Given the description of an element on the screen output the (x, y) to click on. 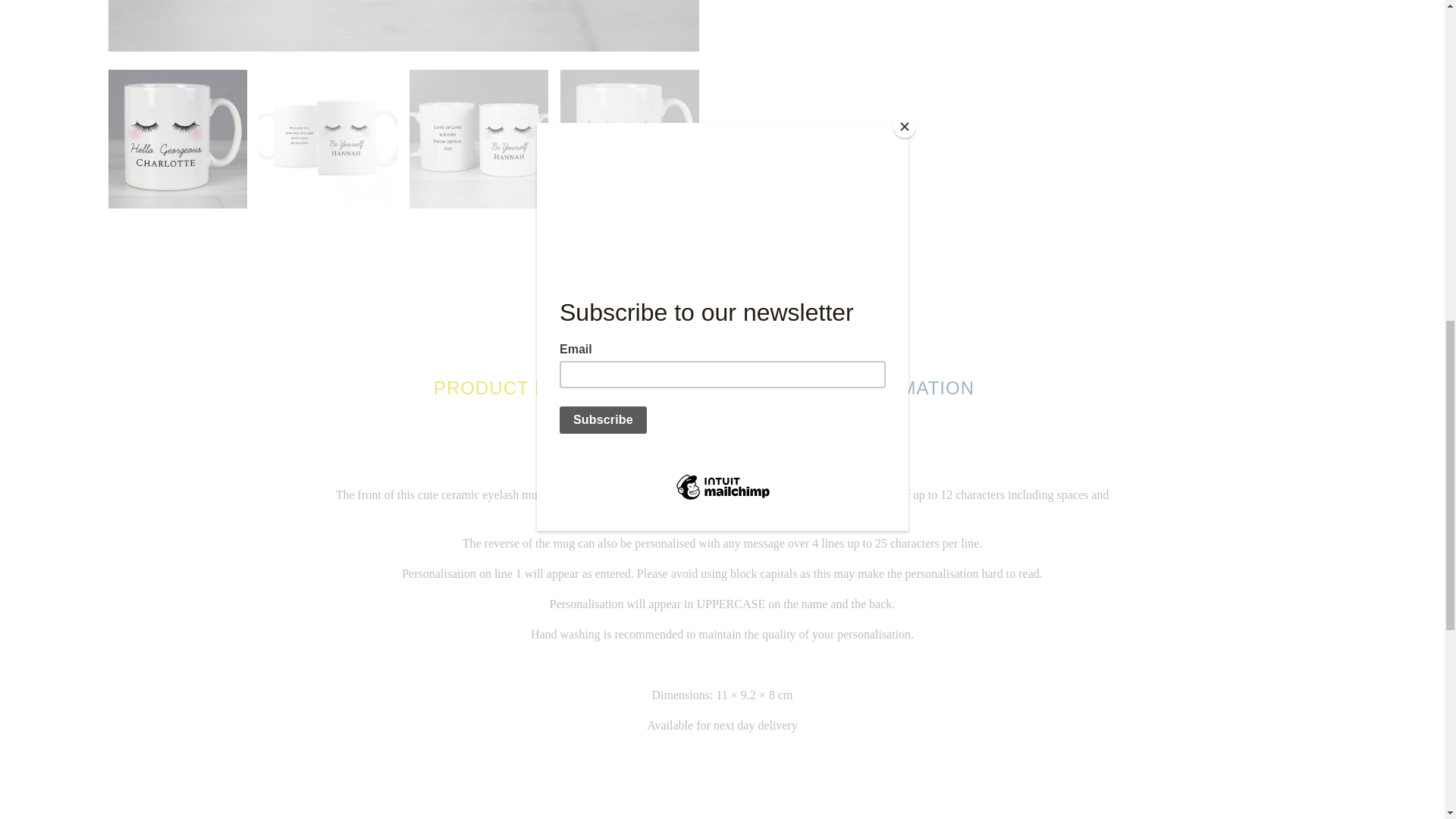
P0805J94 (402, 26)
